Given the description of an element on the screen output the (x, y) to click on. 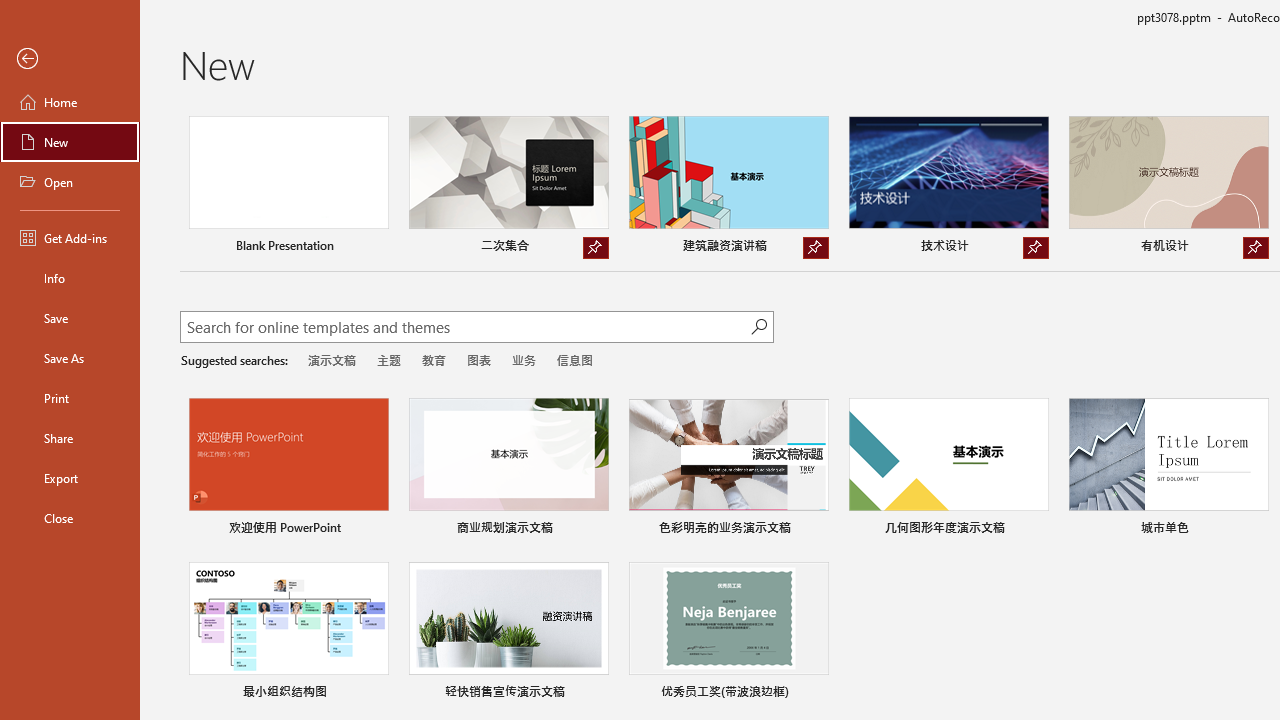
Get Add-ins (69, 237)
Info (69, 277)
Blank Presentation (288, 187)
New (69, 141)
